Given the description of an element on the screen output the (x, y) to click on. 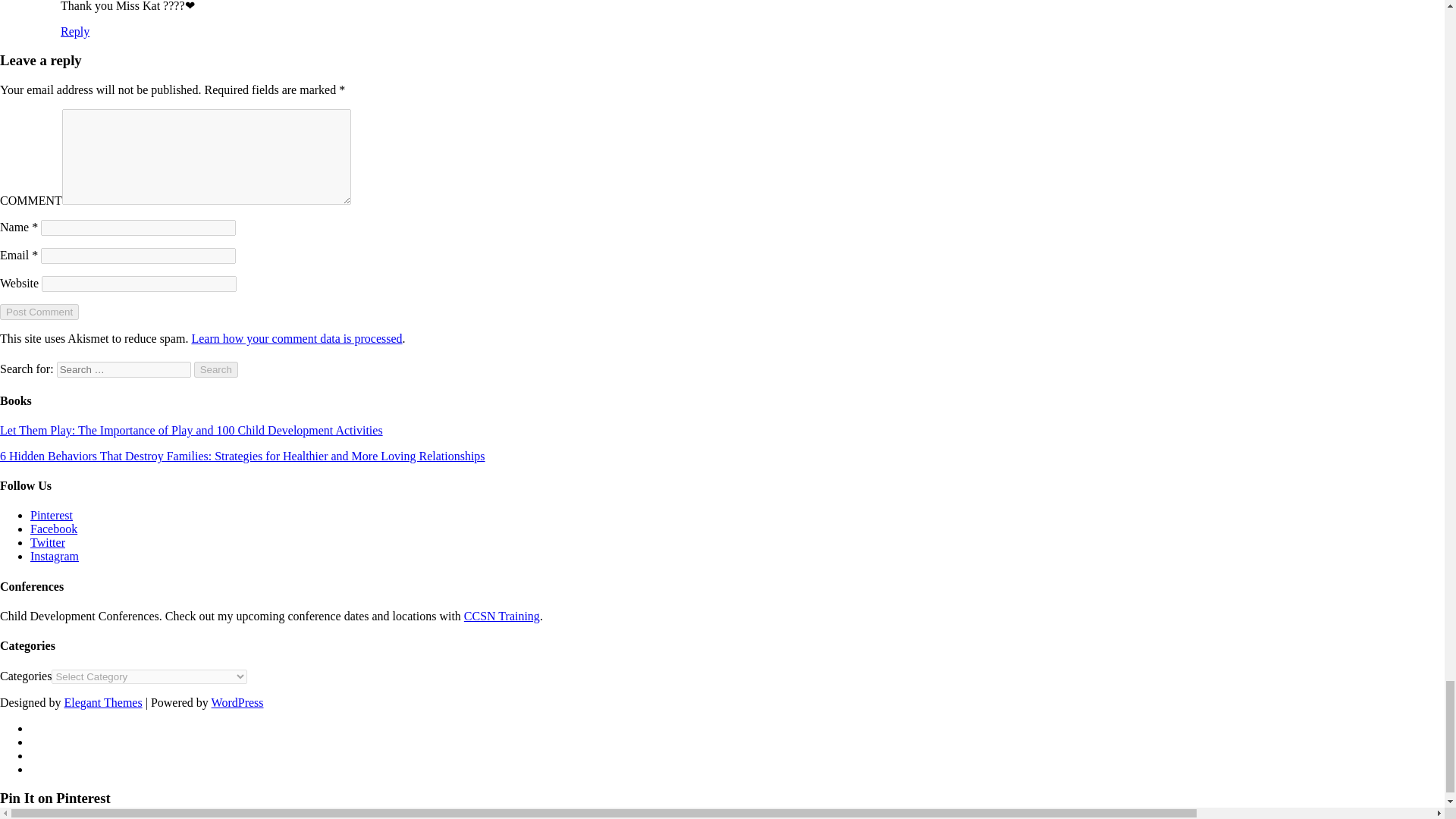
Search (215, 369)
Search (215, 369)
Post Comment (39, 311)
